Given the description of an element on the screen output the (x, y) to click on. 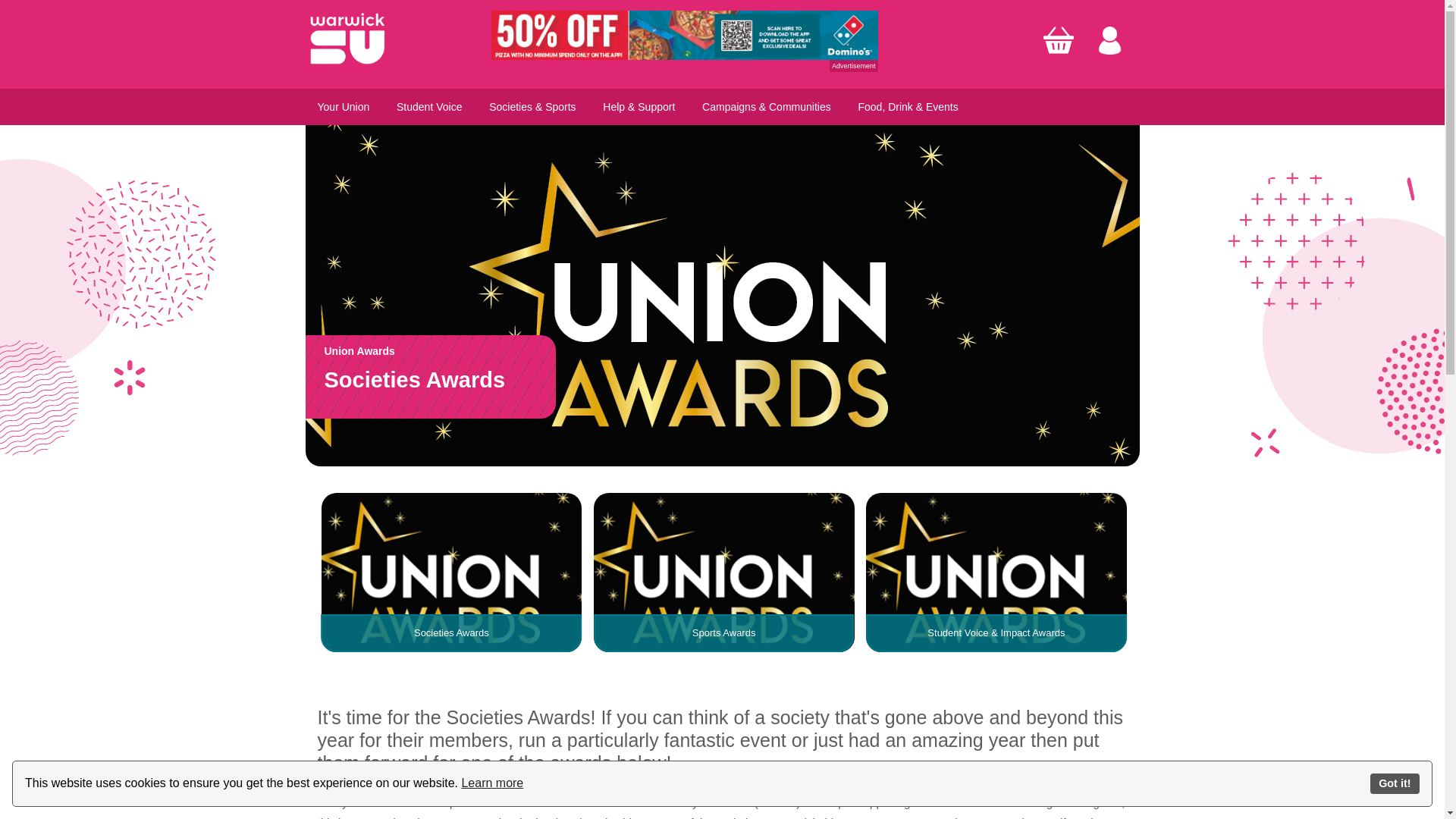
Your Union (343, 106)
Got it! (1394, 783)
Learn more (491, 782)
Student Voice (428, 106)
